Given the description of an element on the screen output the (x, y) to click on. 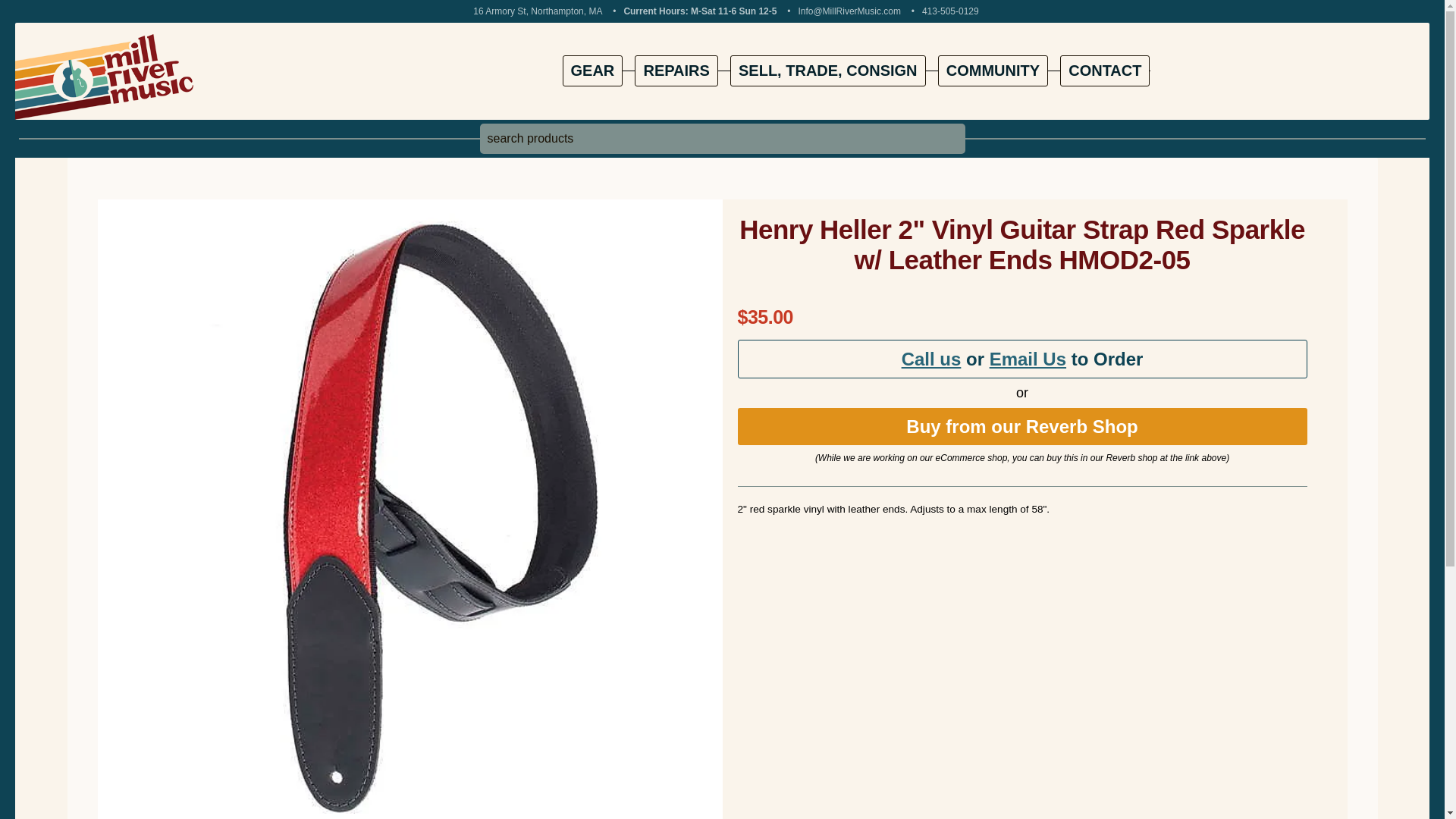
search products (721, 138)
GEAR (592, 70)
SELL, TRADE, CONSIGN (828, 70)
REPAIRS (675, 70)
Buy from our Reverb Shop (1021, 426)
Call us (930, 358)
Email Us (1027, 358)
COMMUNITY (992, 70)
CONTACT (1104, 70)
